Given the description of an element on the screen output the (x, y) to click on. 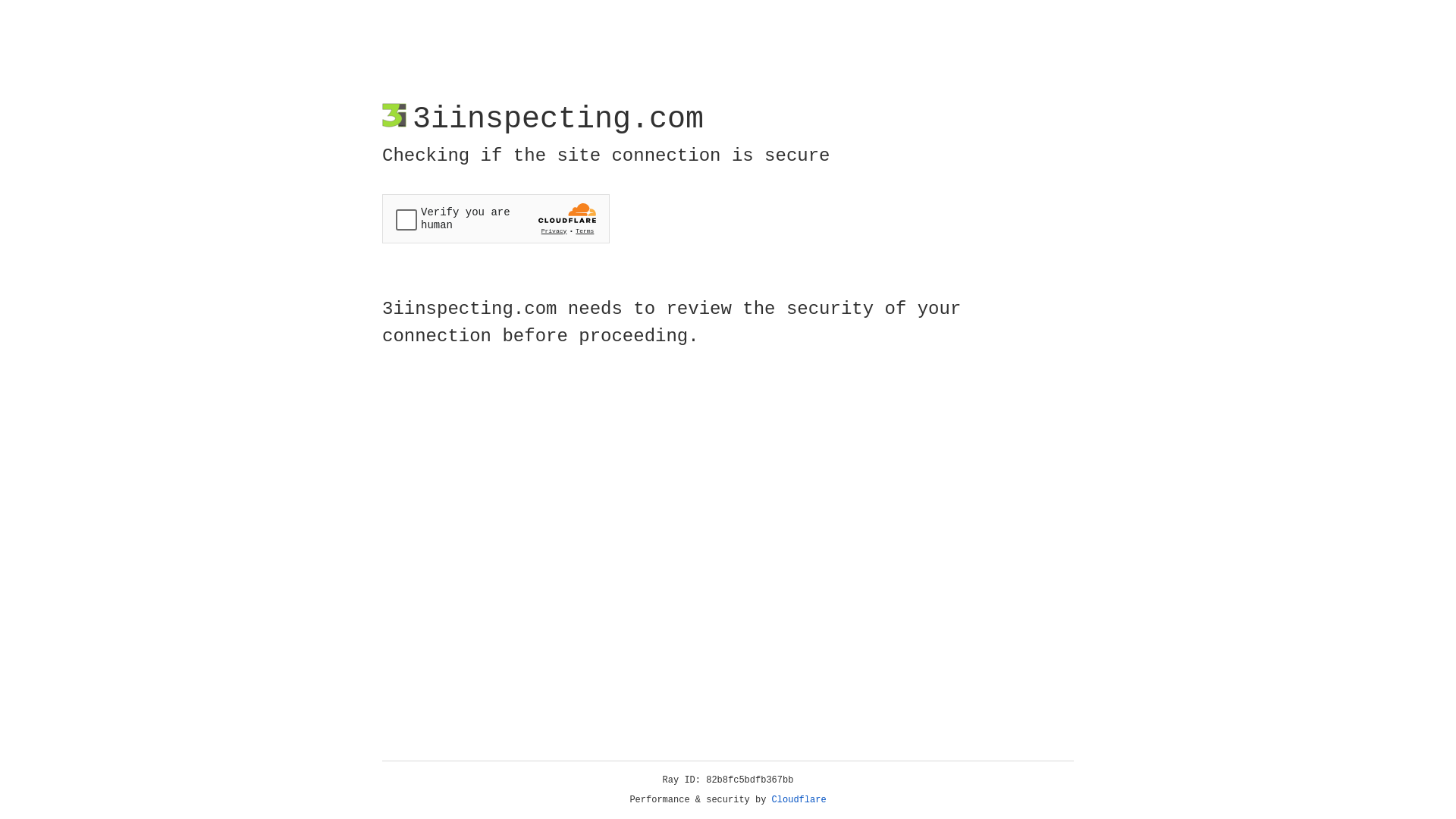
Cloudflare Element type: text (798, 799)
Widget containing a Cloudflare security challenge Element type: hover (495, 218)
